Given the description of an element on the screen output the (x, y) to click on. 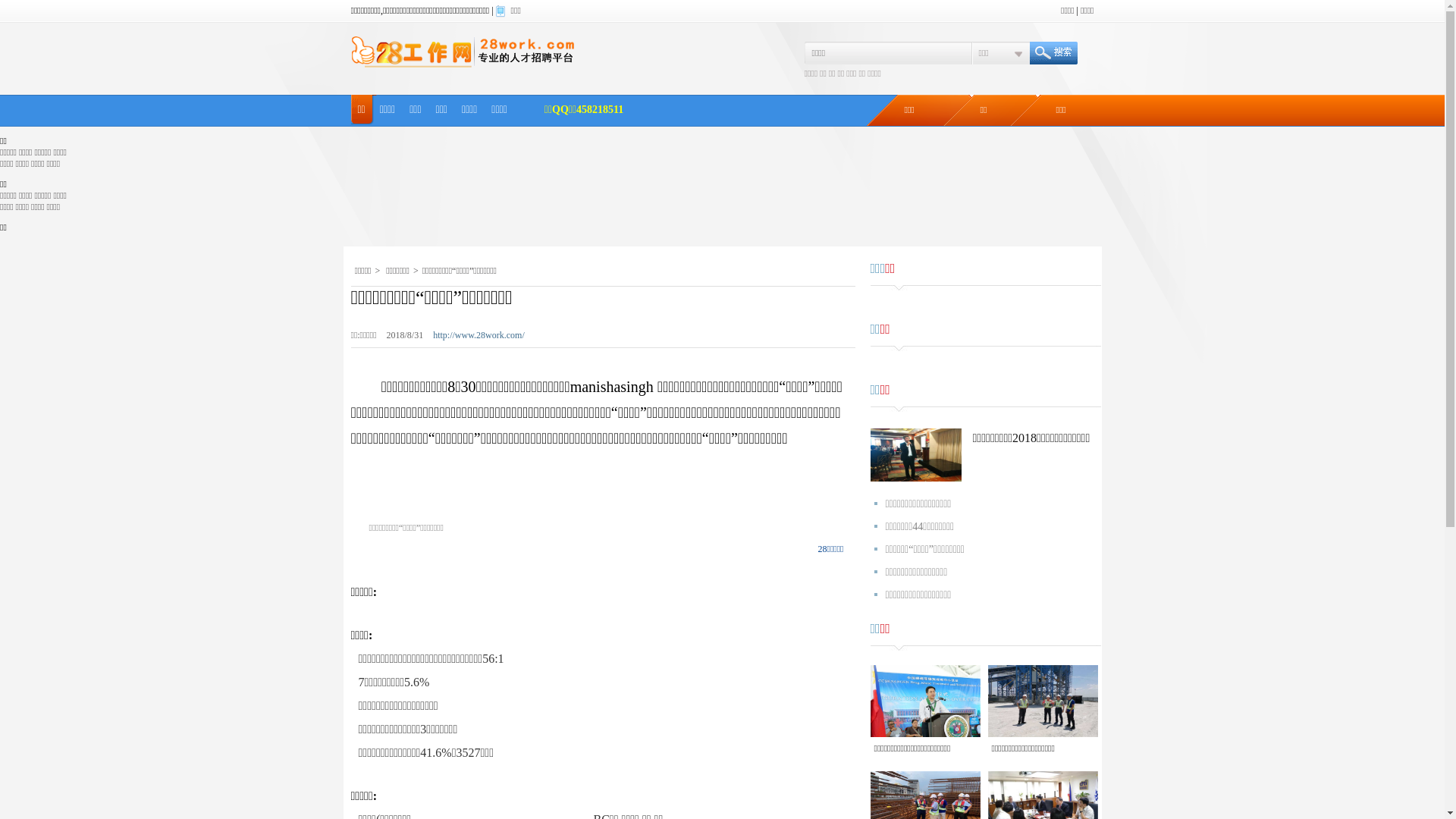
http://www.28work.com/ Element type: text (482, 334)
